Given the description of an element on the screen output the (x, y) to click on. 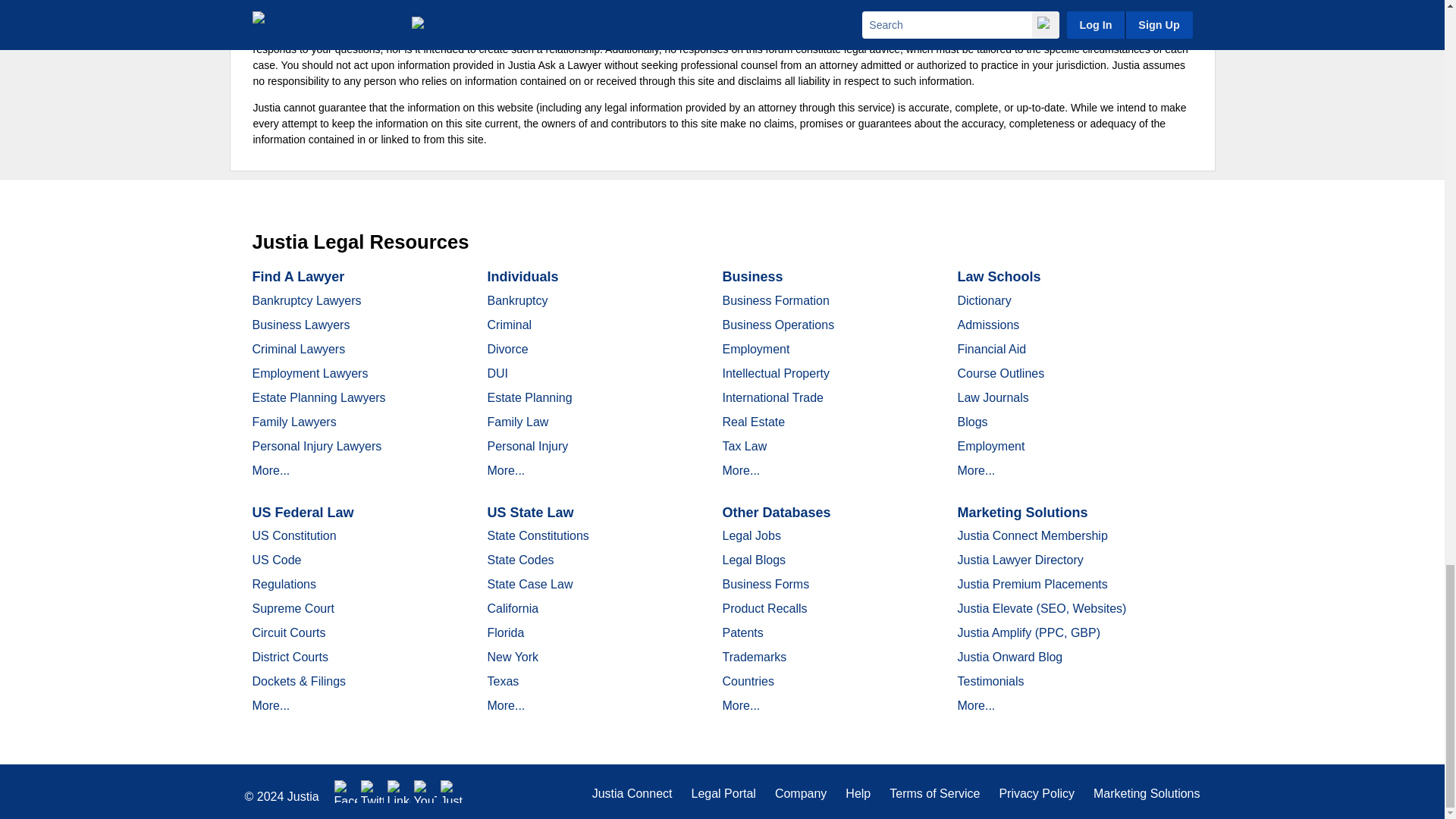
LinkedIn (398, 791)
Justia Lawyer Directory (452, 791)
Facebook (345, 791)
YouTube (424, 791)
Twitter (372, 791)
